Given the description of an element on the screen output the (x, y) to click on. 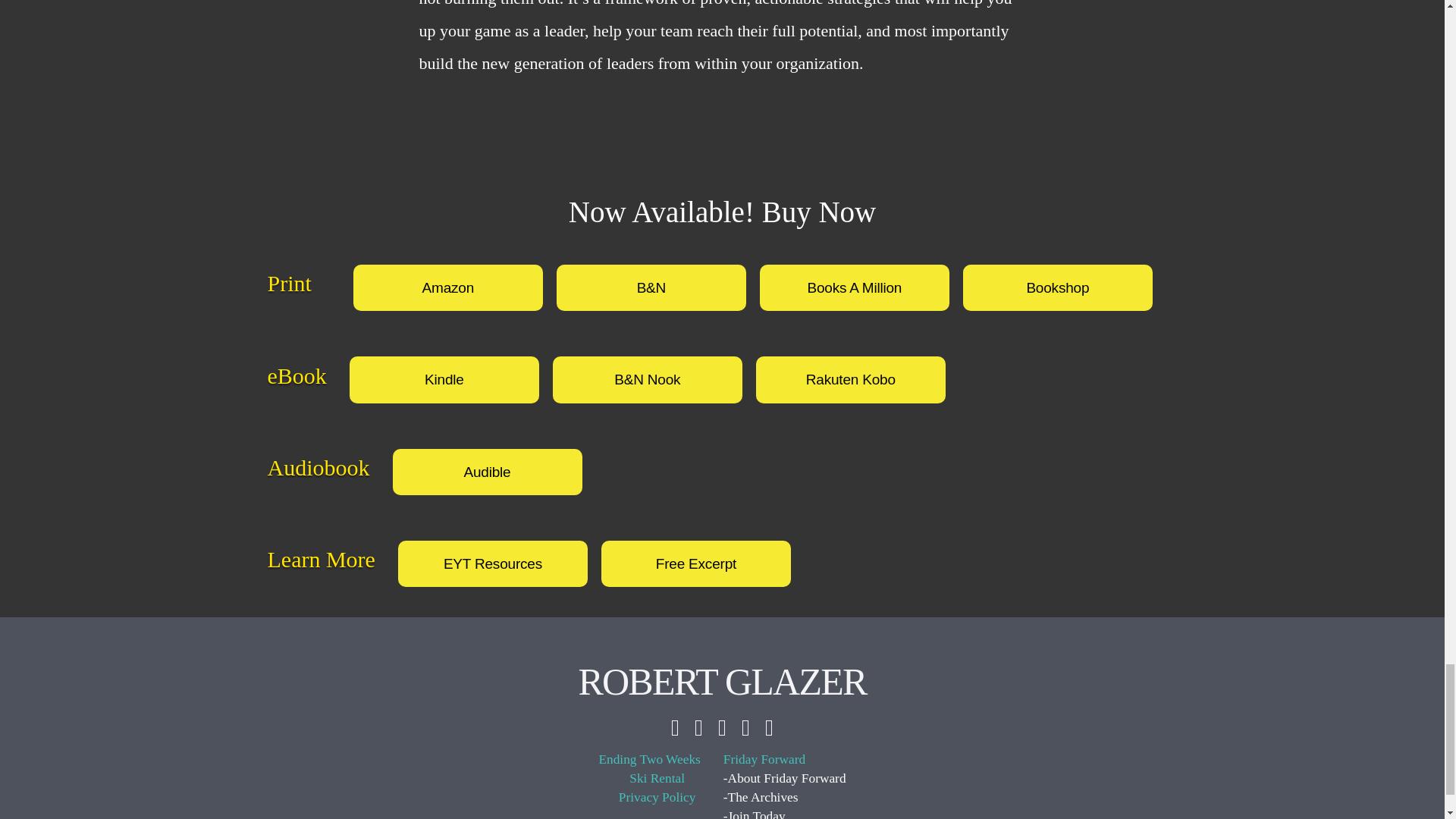
Kindle (443, 379)
EYT Resources (492, 563)
Books A Million (854, 287)
-The Archives (784, 797)
Ending Two Weeks (649, 760)
Audible (487, 471)
-Join Today (784, 813)
ROBERT GLAZER (722, 681)
Bookshop (1057, 287)
Rakuten Kobo (849, 379)
